Given the description of an element on the screen output the (x, y) to click on. 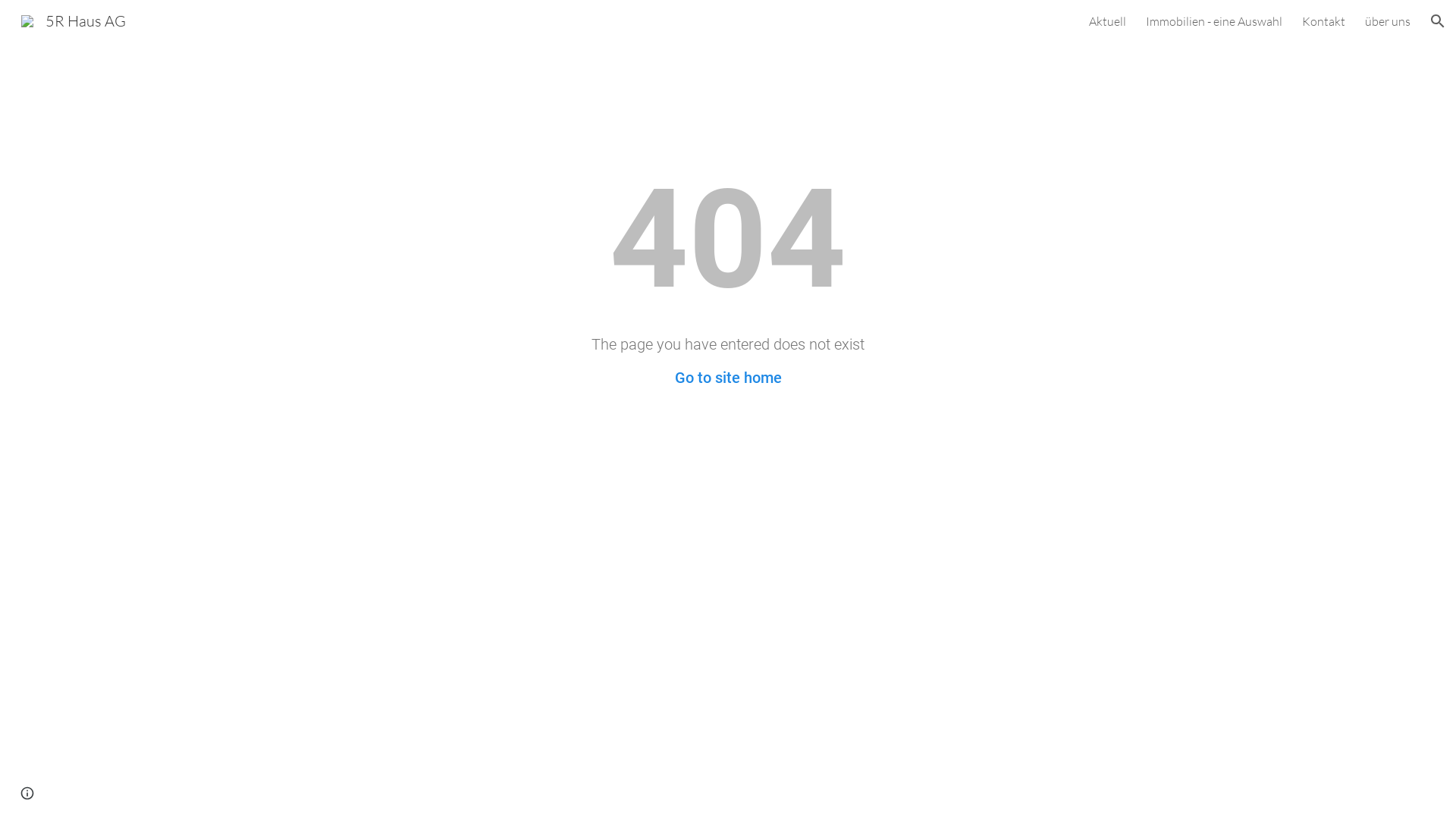
Go to site home Element type: text (727, 377)
Aktuell Element type: text (1107, 20)
Immobilien - eine Auswahl Element type: text (1213, 20)
Kontakt Element type: text (1323, 20)
5R Haus AG Element type: text (73, 18)
